Given the description of an element on the screen output the (x, y) to click on. 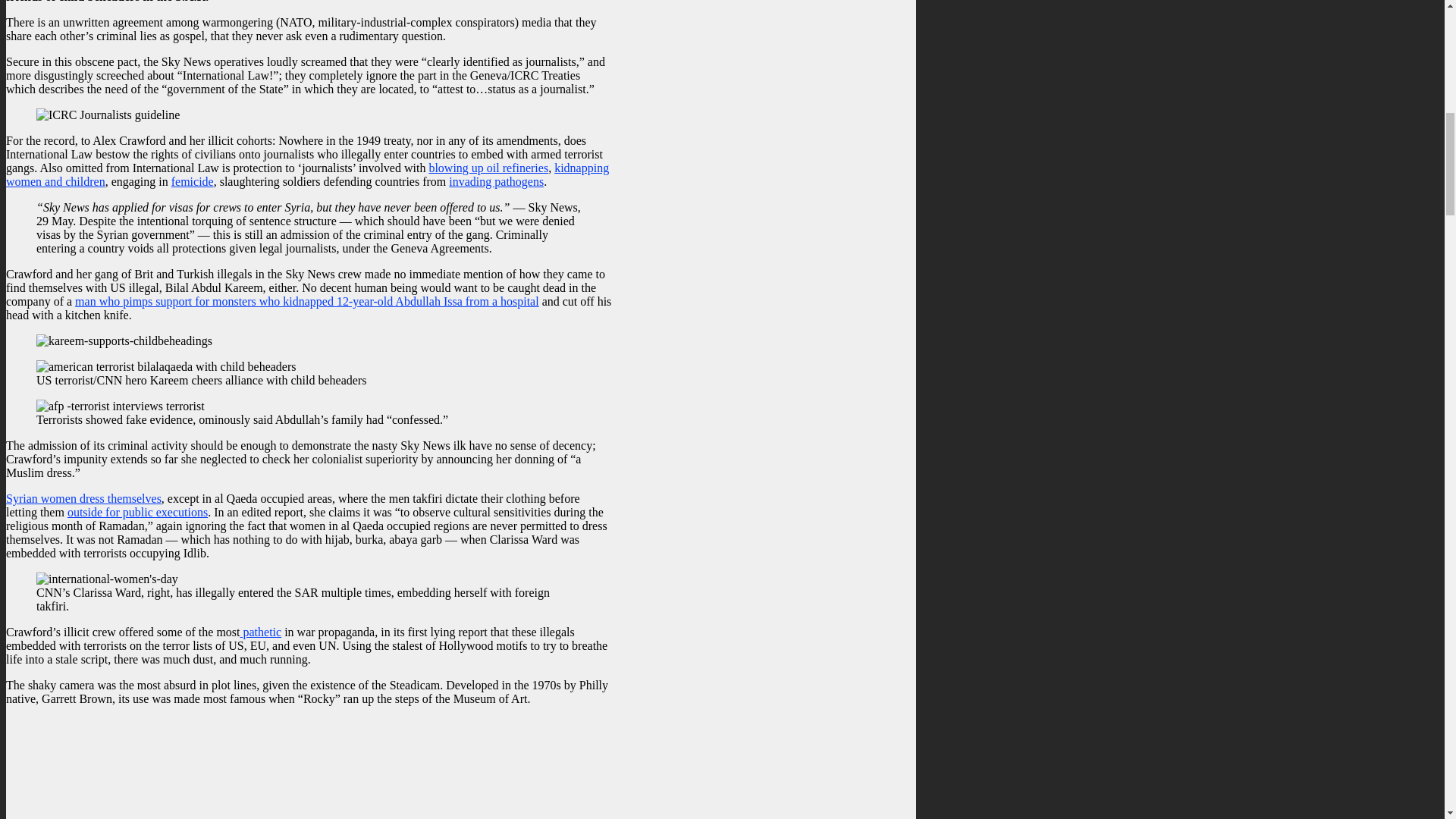
femicide (192, 181)
kidnapping women and children (306, 174)
Syrian women dress themselves (83, 498)
pathetic (261, 631)
outside for public executions (137, 512)
invading pathogens (495, 181)
blowing up oil refineries (488, 167)
